Given the description of an element on the screen output the (x, y) to click on. 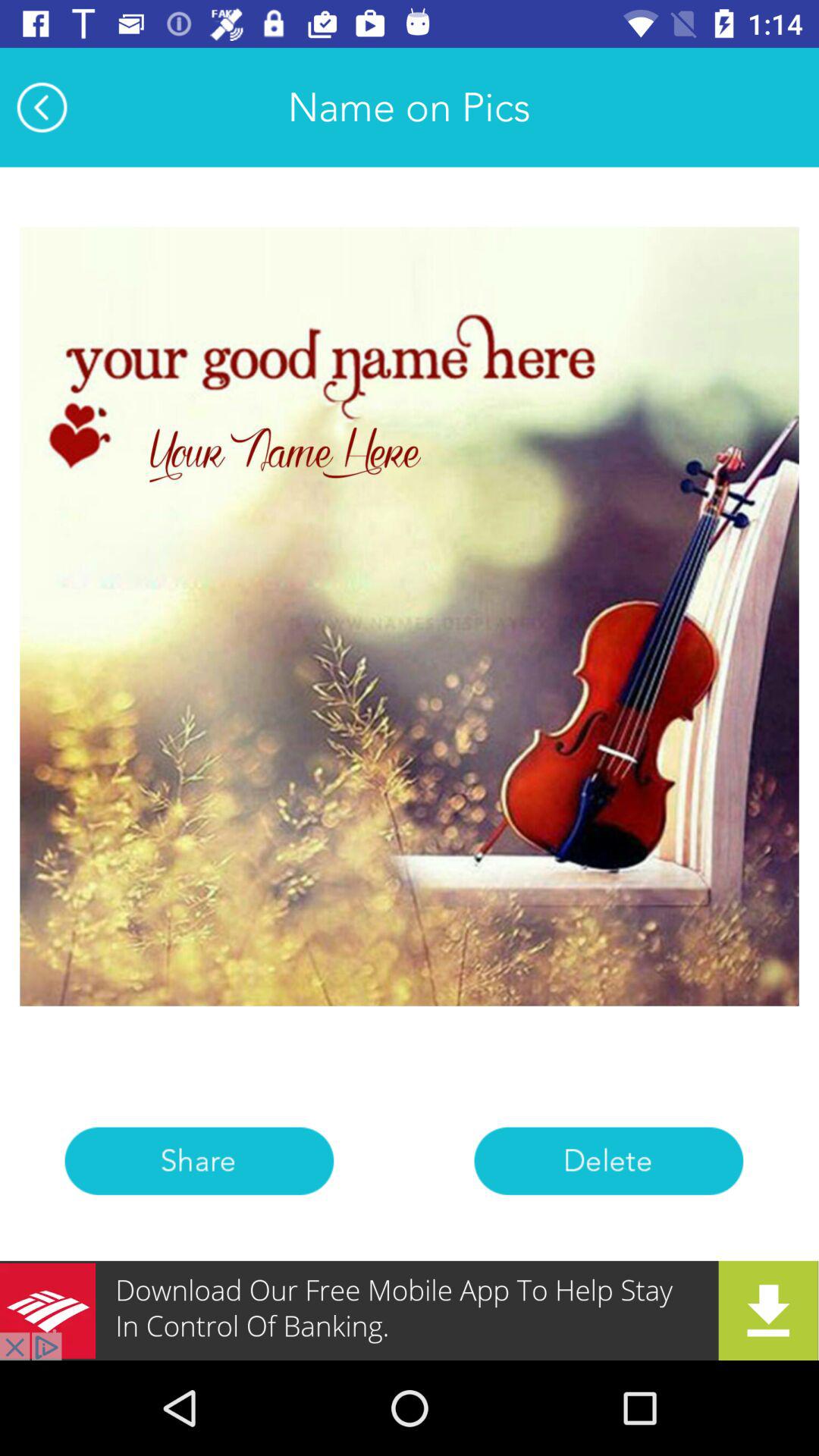
go back (41, 107)
